Given the description of an element on the screen output the (x, y) to click on. 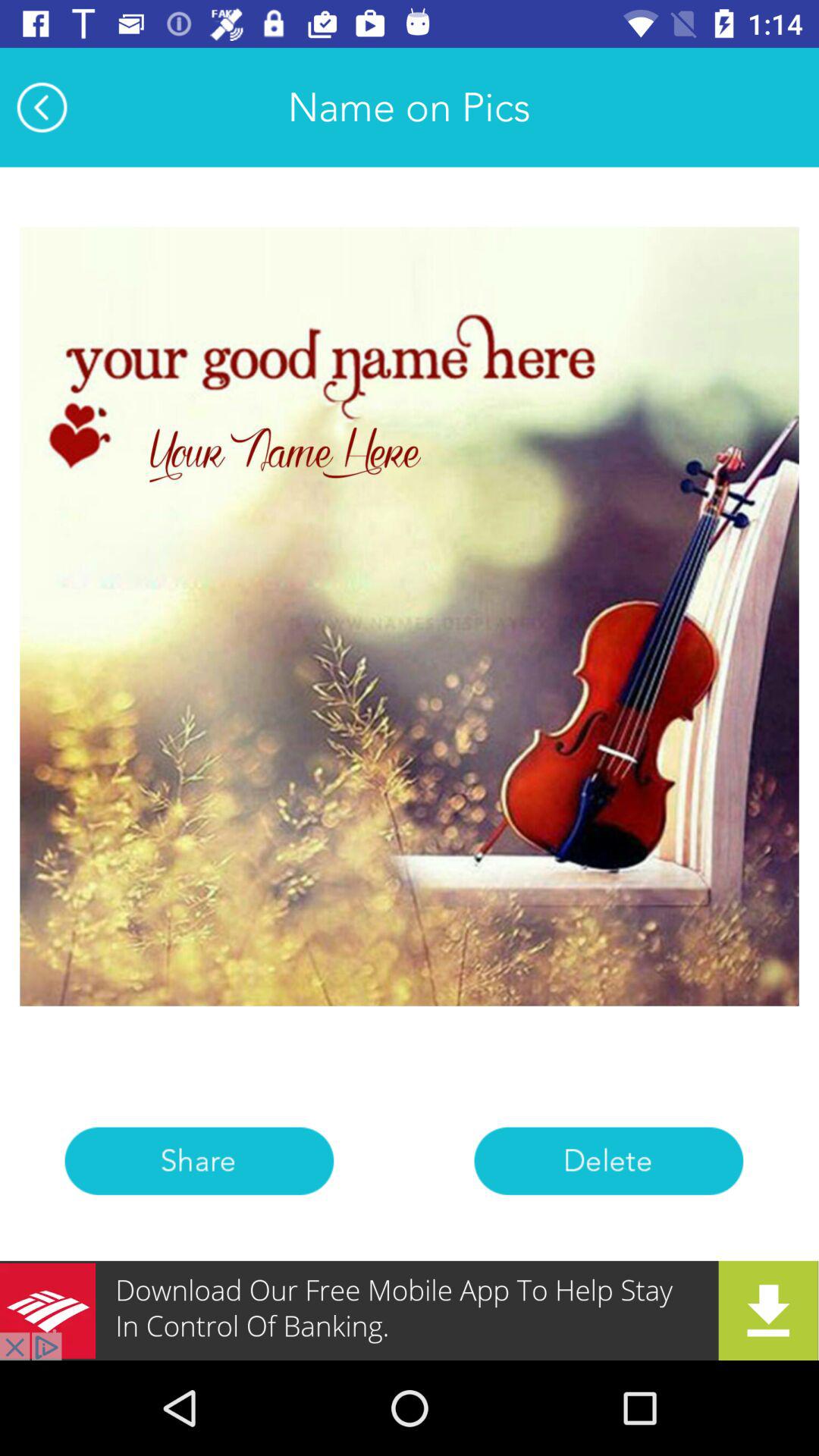
go back (41, 107)
